Given the description of an element on the screen output the (x, y) to click on. 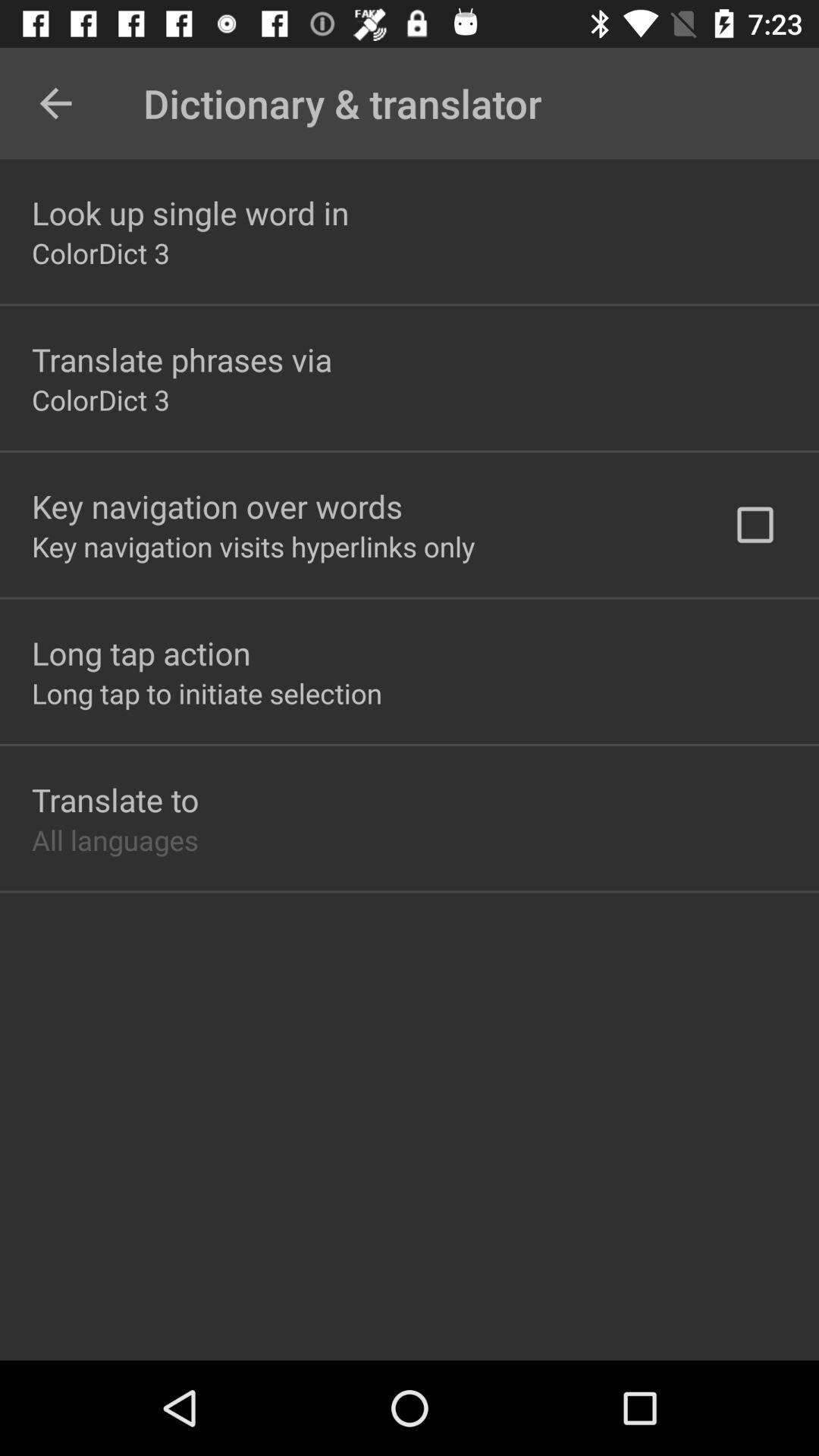
swipe until the all languages (114, 839)
